Given the description of an element on the screen output the (x, y) to click on. 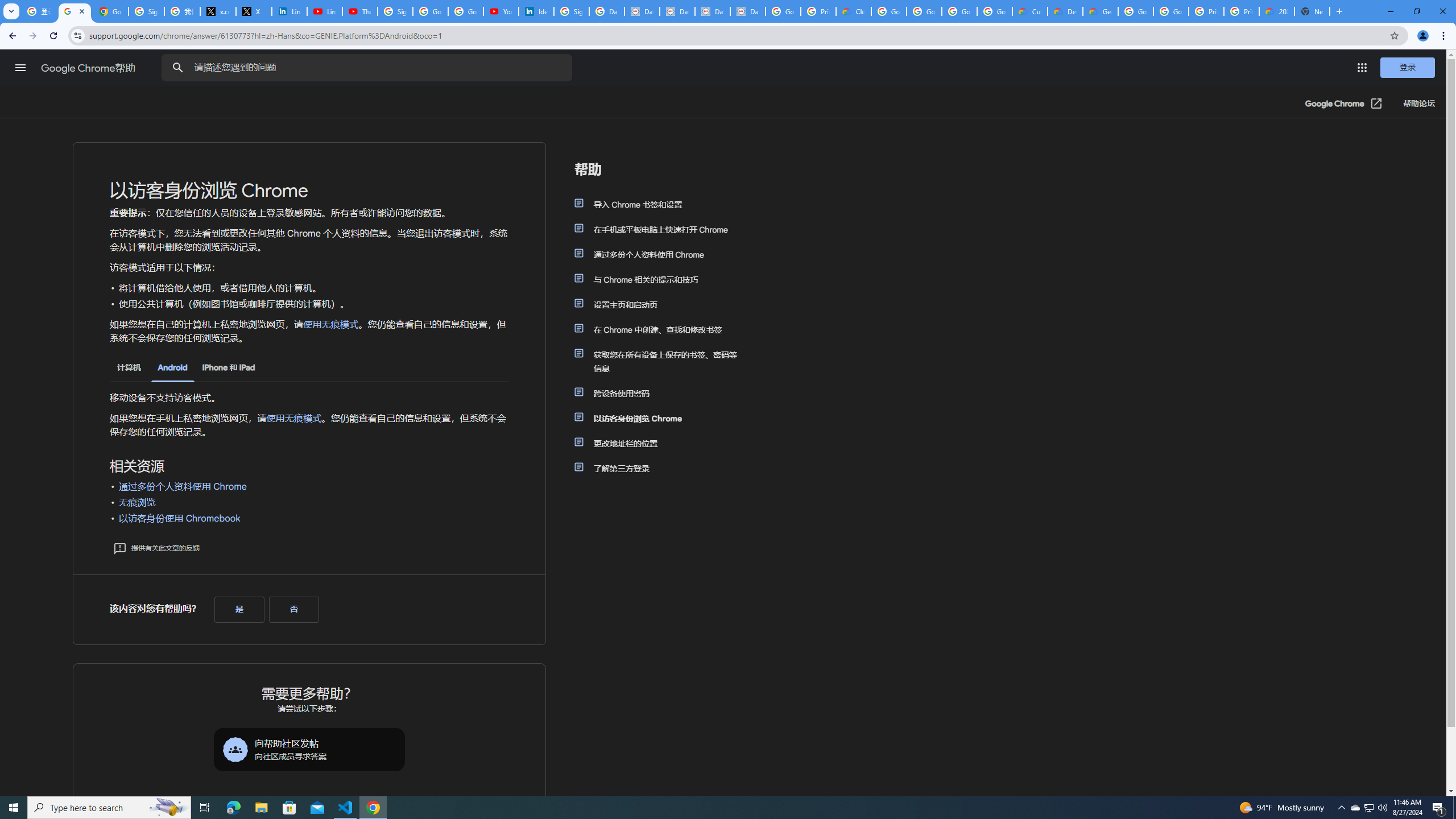
You (1422, 35)
New Tab (1338, 11)
Close (82, 11)
X (253, 11)
